Given the description of an element on the screen output the (x, y) to click on. 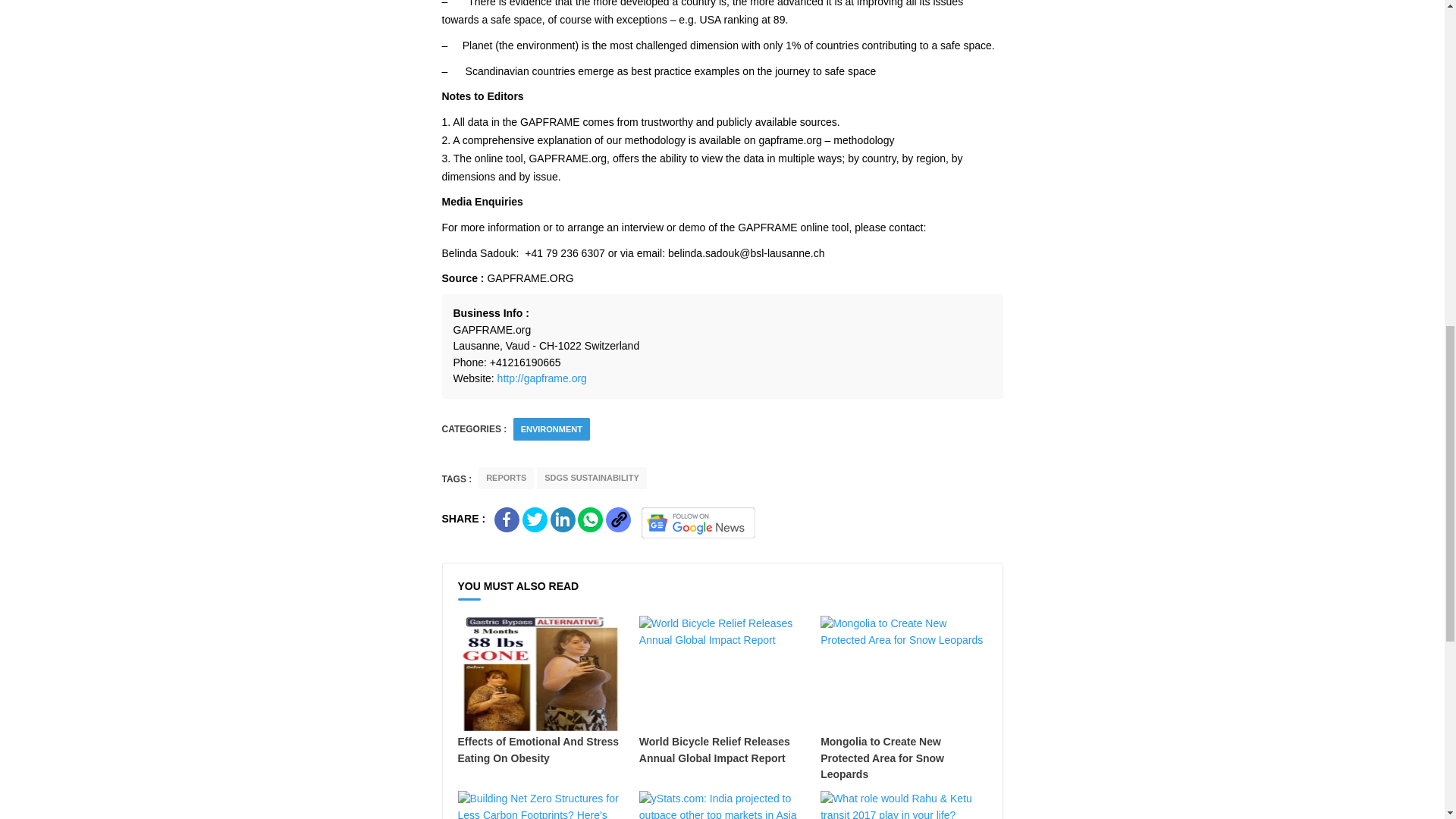
Share on Linkedin (562, 519)
Effects of Emotional And Stress Eating On Obesity (541, 690)
Share on Twitter (534, 519)
REPORTS (506, 477)
ENVIRONMENT (551, 429)
SDGS SUSTAINABILITY (591, 477)
Copy Link (617, 519)
Share on Whatsapp (590, 519)
Share on Facebook (507, 519)
